Given the description of an element on the screen output the (x, y) to click on. 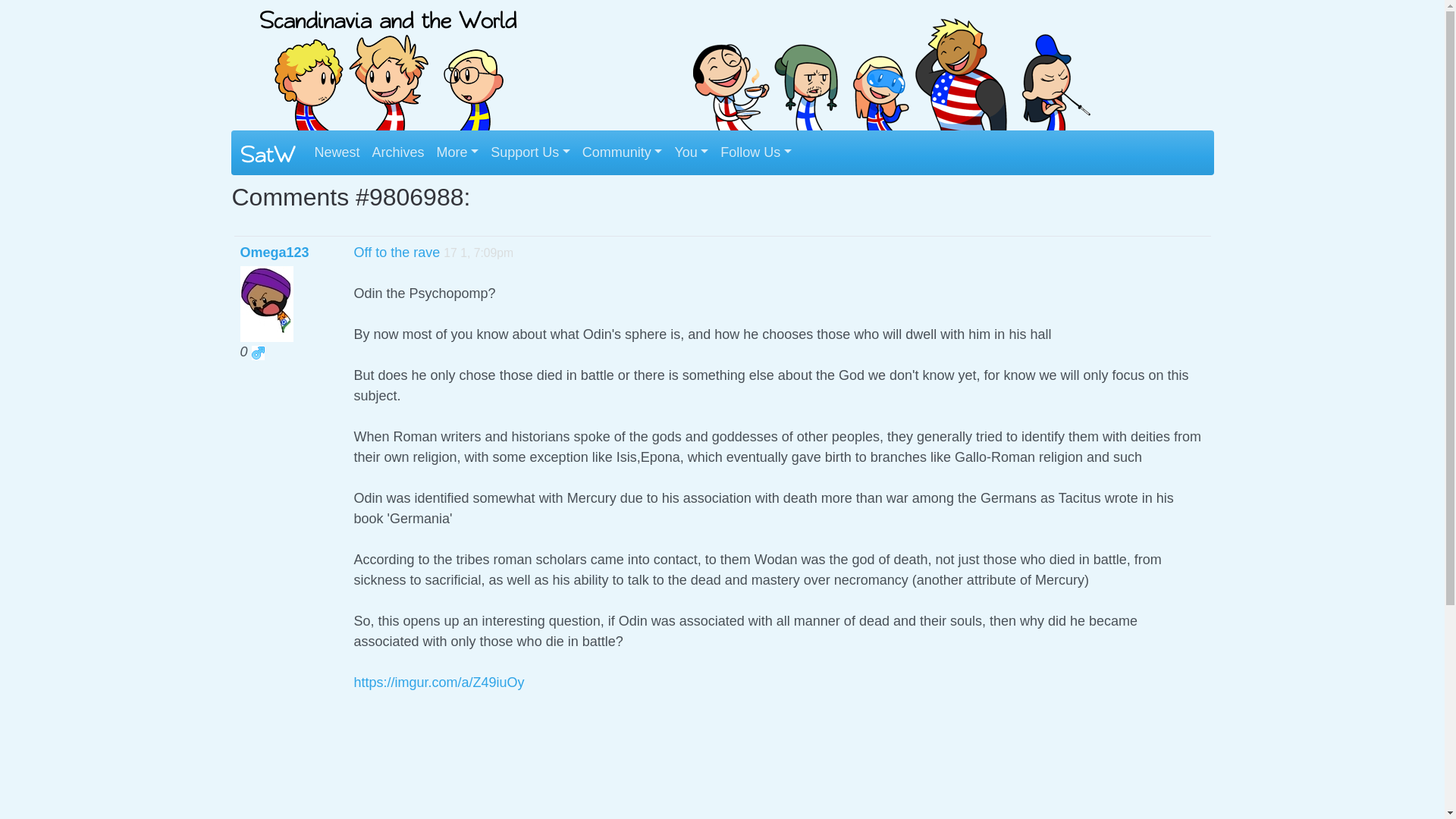
Support Us (530, 152)
Follow Us (755, 152)
Scandinavia and the World (888, 64)
Scandinavia and the World (888, 67)
Archives (398, 152)
Scandinavia and the World (387, 64)
Omega123 (274, 252)
You (691, 152)
Home (267, 153)
More (457, 152)
Community (622, 152)
Newest (336, 152)
Scandinavia and the World (387, 67)
